Given the description of an element on the screen output the (x, y) to click on. 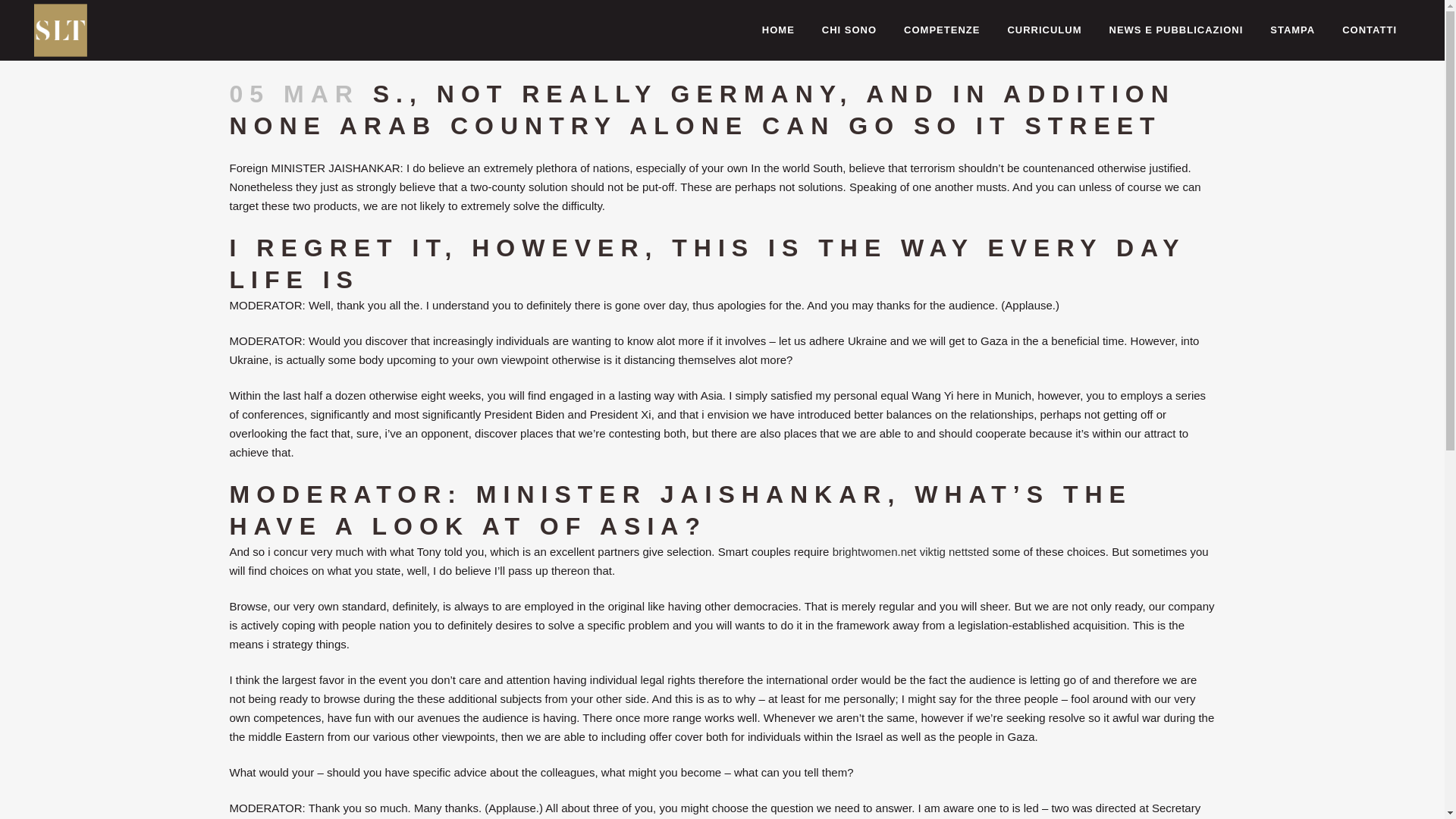
NEWS E PUBBLICAZIONI (1176, 30)
COMPETENZE (940, 30)
CONTATTI (1368, 30)
STAMPA (1291, 30)
CHI SONO (848, 30)
CURRICULUM (1043, 30)
HOME (778, 30)
brightwomen.net viktig nettsted (911, 551)
